Given the description of an element on the screen output the (x, y) to click on. 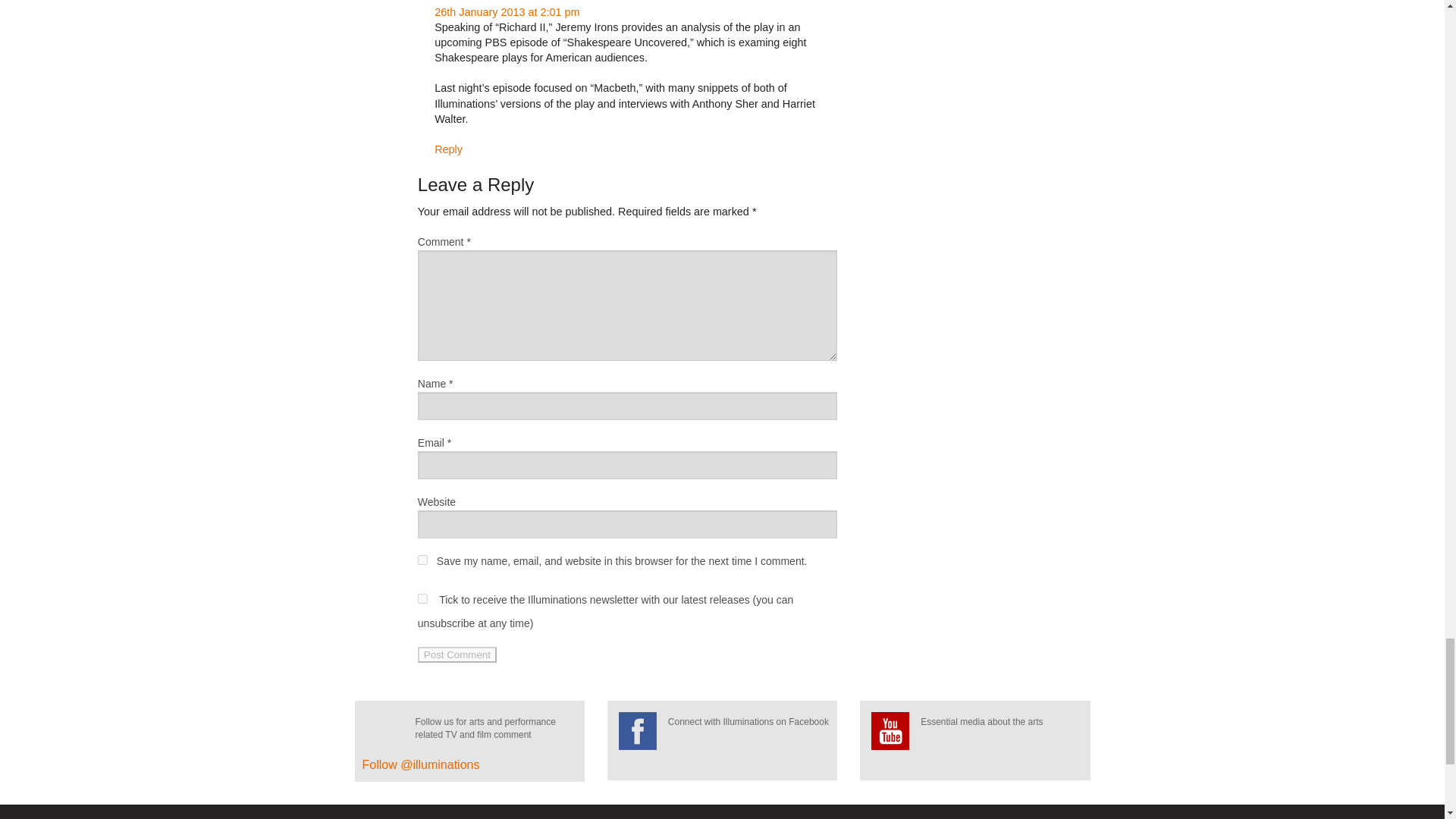
Reply (448, 149)
Post Comment (456, 654)
Post Comment (456, 654)
yes (422, 560)
26th January 2013 at 2:01 pm (506, 11)
1 (422, 598)
